Given the description of an element on the screen output the (x, y) to click on. 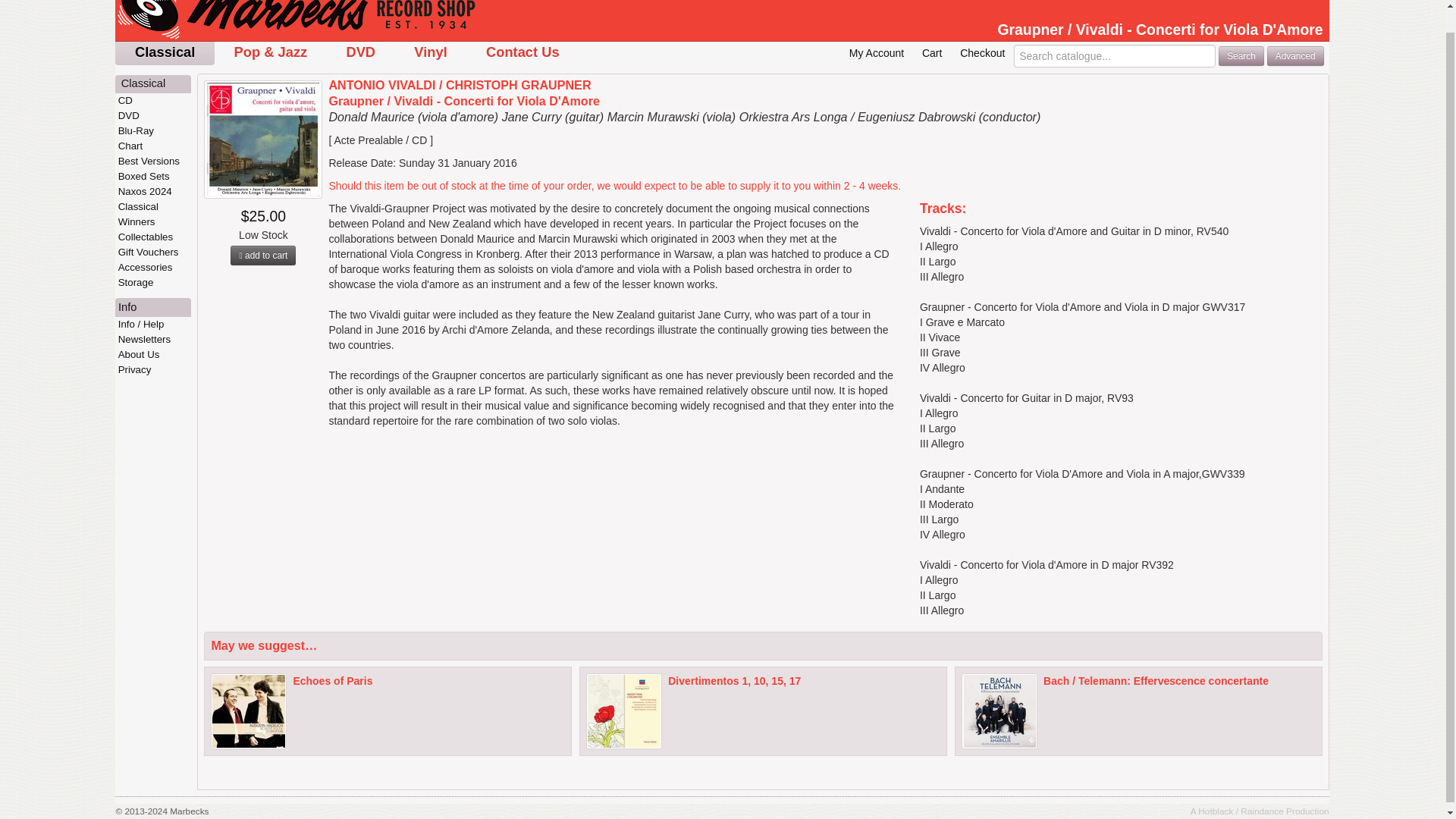
Chart (152, 145)
Vinyl (430, 53)
Advanced (1294, 55)
CD (152, 100)
Echoes of Paris (332, 680)
Search using tracks and other advanced techniques (1294, 55)
Best Versions (152, 160)
Search (1240, 55)
DVD (360, 53)
Classical (153, 83)
